Given the description of an element on the screen output the (x, y) to click on. 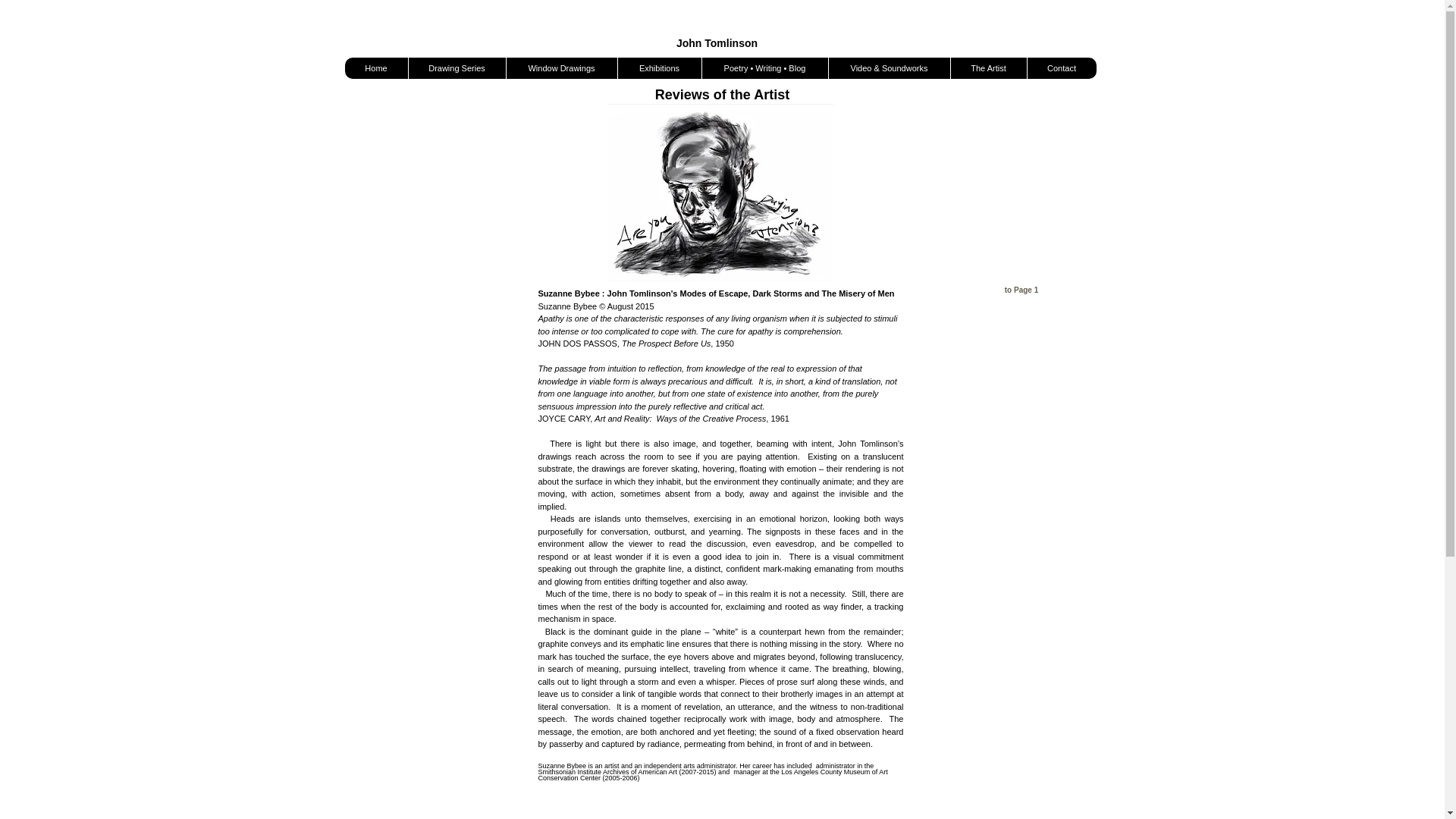
Home (375, 67)
Are you paying attention?  digital drawing 2015 (720, 192)
Exhibitions (659, 67)
Window Drawings (560, 67)
to Page 1 (1021, 290)
Drawing Series (456, 67)
